Given the description of an element on the screen output the (x, y) to click on. 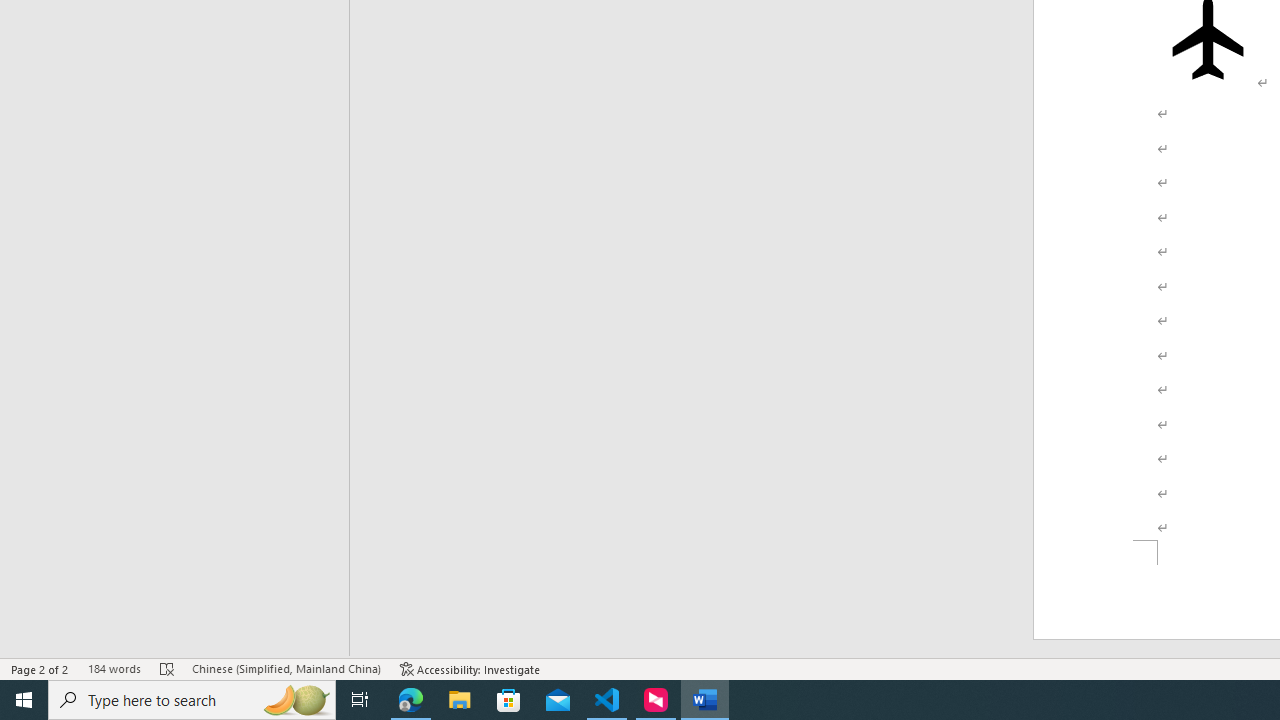
Language Chinese (Simplified, Mainland China) (286, 668)
Spelling and Grammar Check Errors (168, 668)
Accessibility Checker Accessibility: Investigate (470, 668)
Word Count 184 words (113, 668)
Page Number Page 2 of 2 (39, 668)
